Given the description of an element on the screen output the (x, y) to click on. 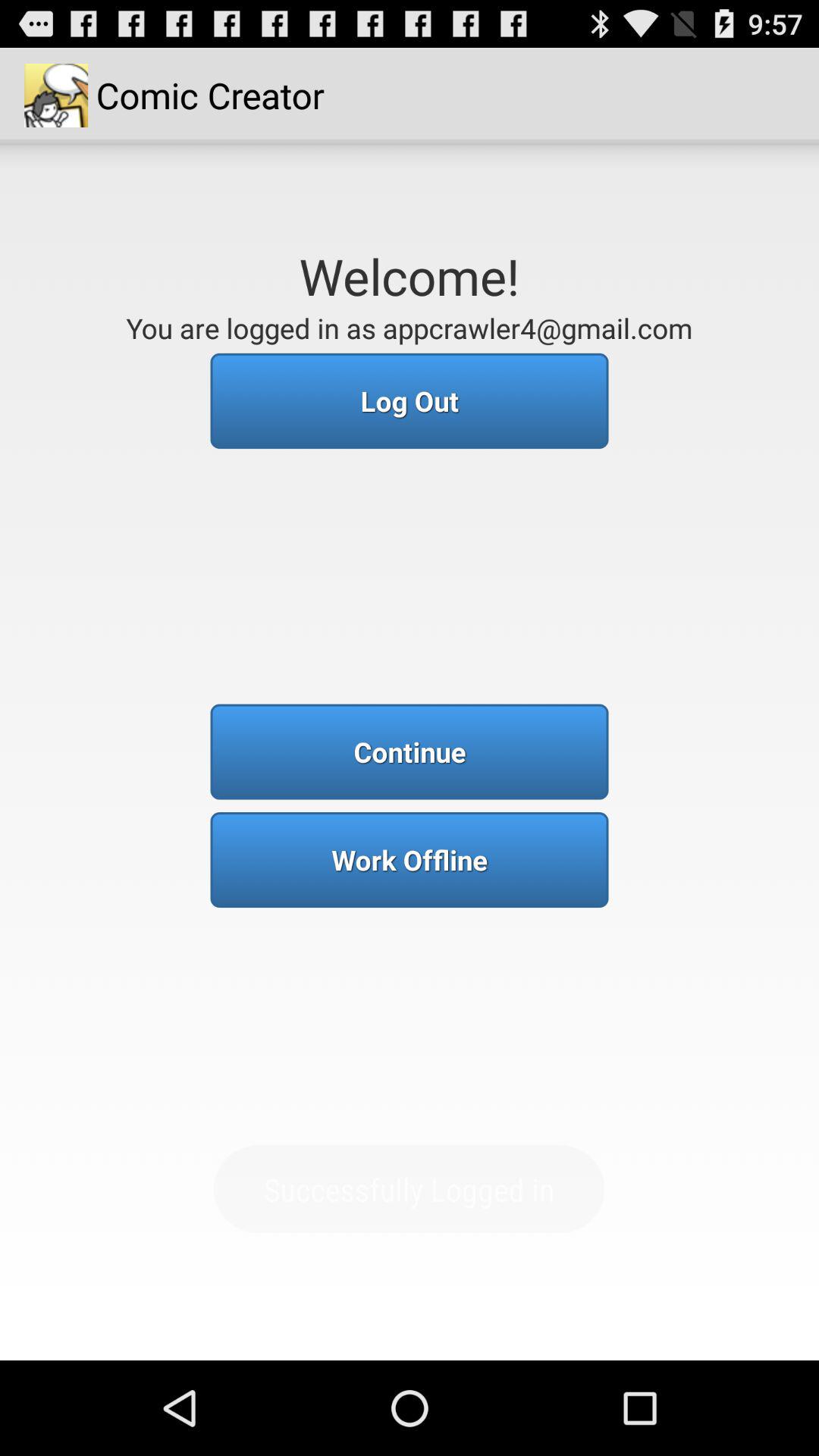
click the log out button (409, 400)
